Given the description of an element on the screen output the (x, y) to click on. 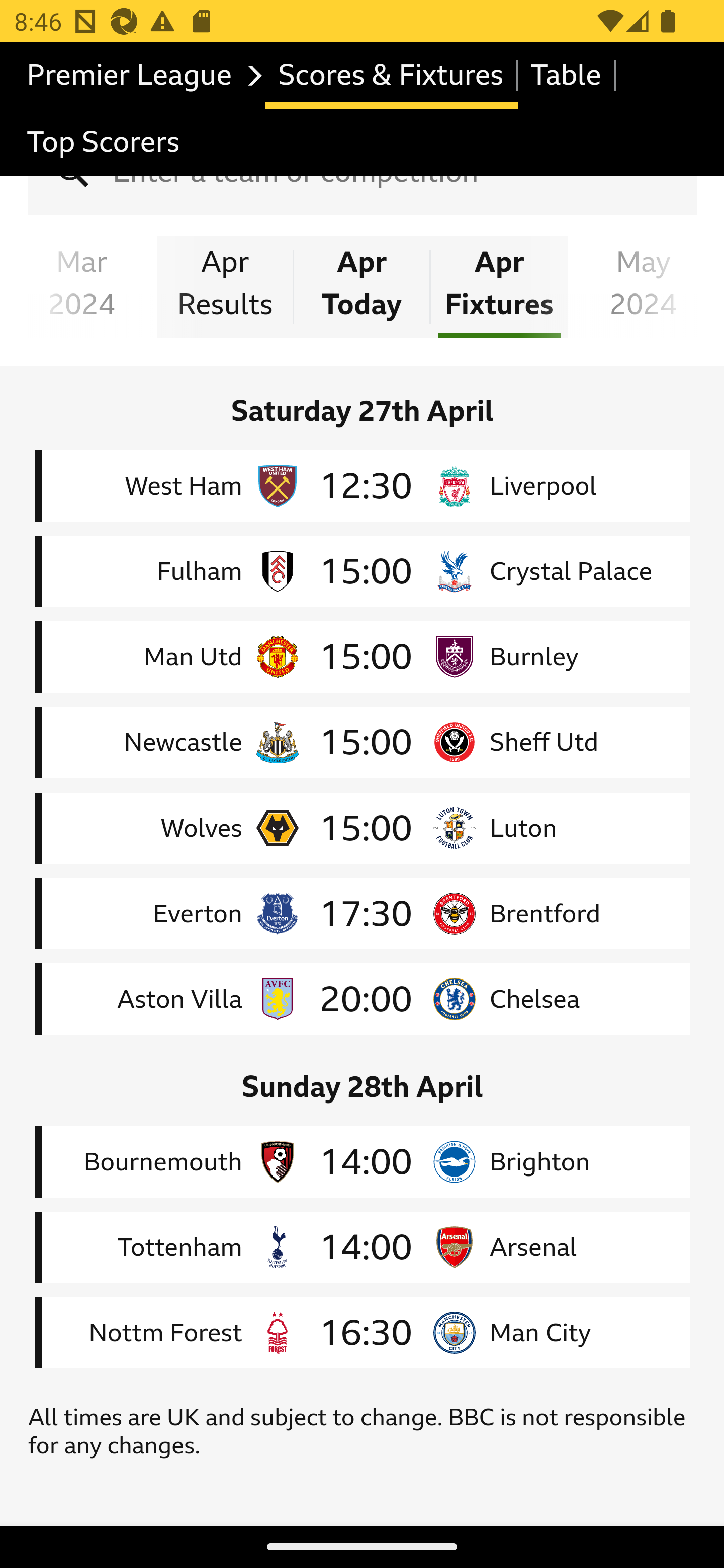
Premier League (140, 75)
Scores & Fixtures (391, 75)
Table (567, 75)
Top Scorers (103, 142)
